Given the description of an element on the screen output the (x, y) to click on. 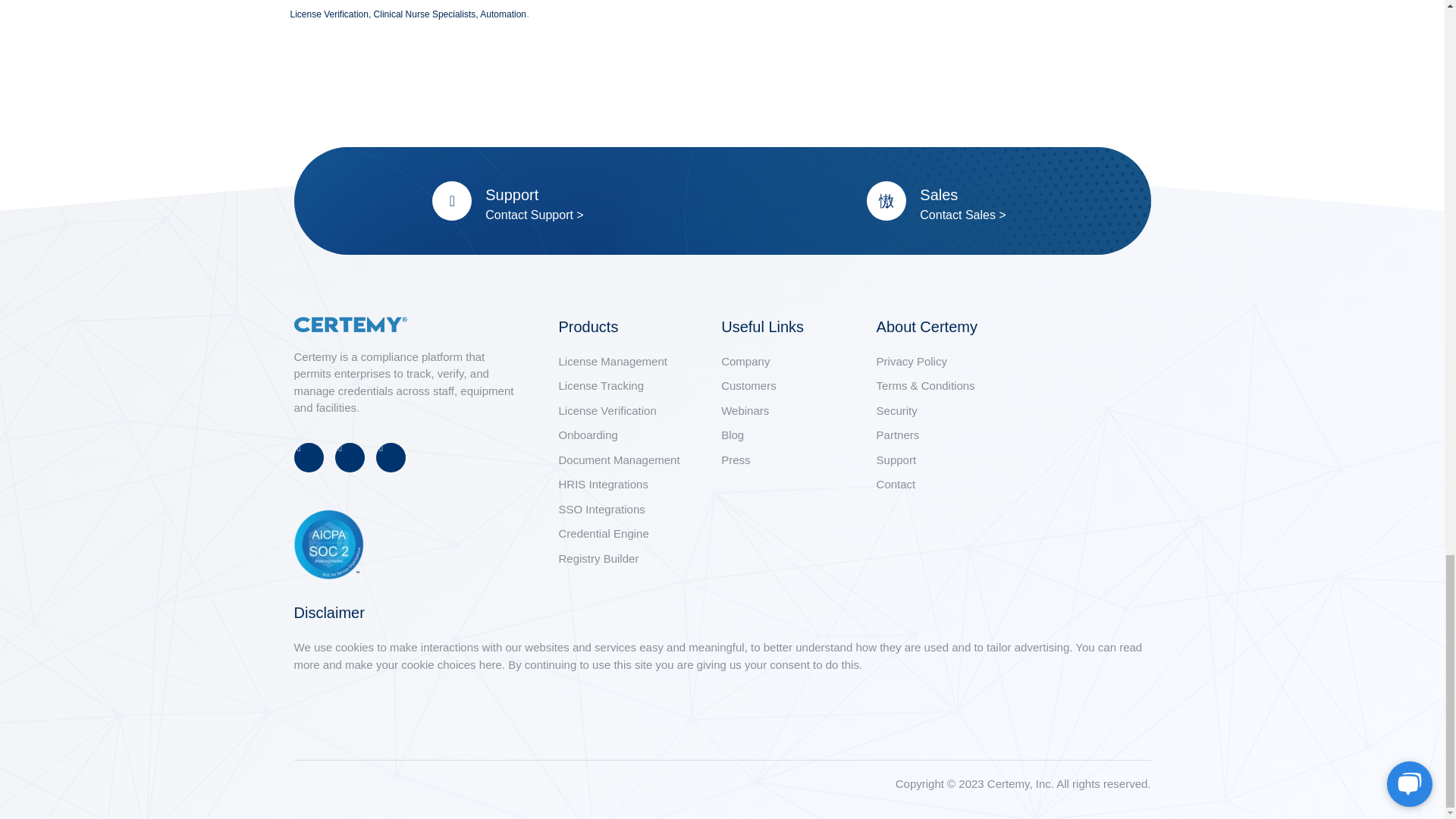
Support (511, 194)
